Given the description of an element on the screen output the (x, y) to click on. 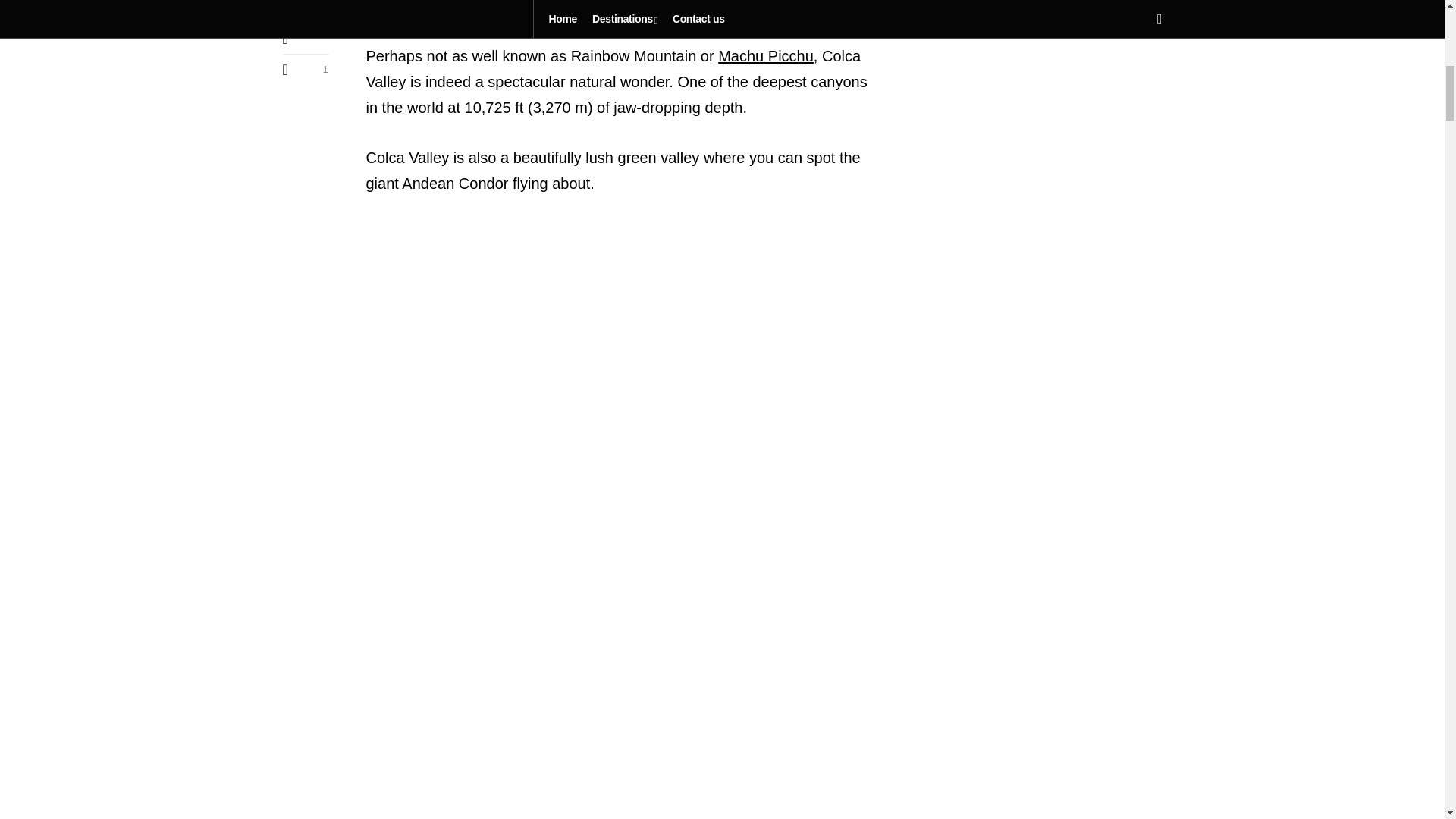
Top 10 Natural Wonders of South America You Must Visit 7 (622, 703)
